Given the description of an element on the screen output the (x, y) to click on. 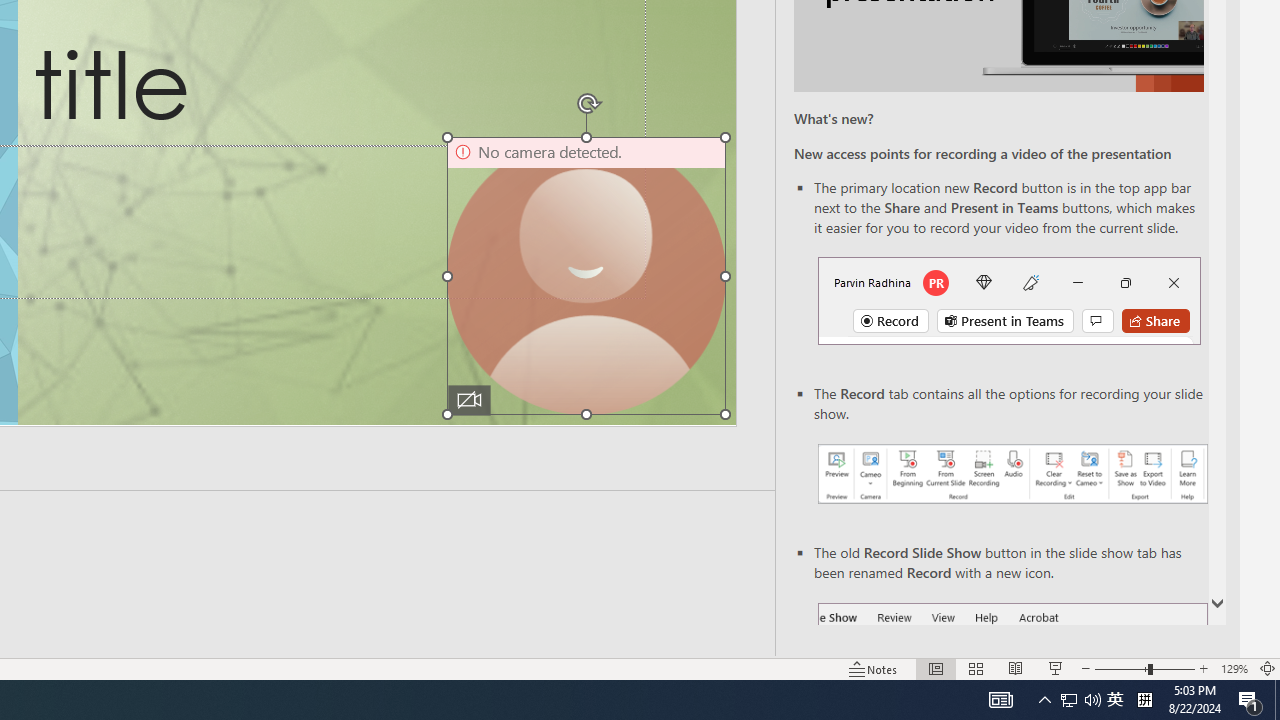
Zoom 129% (1234, 668)
Record button in top bar (1008, 300)
Record your presentations screenshot one (1012, 473)
